Given the description of an element on the screen output the (x, y) to click on. 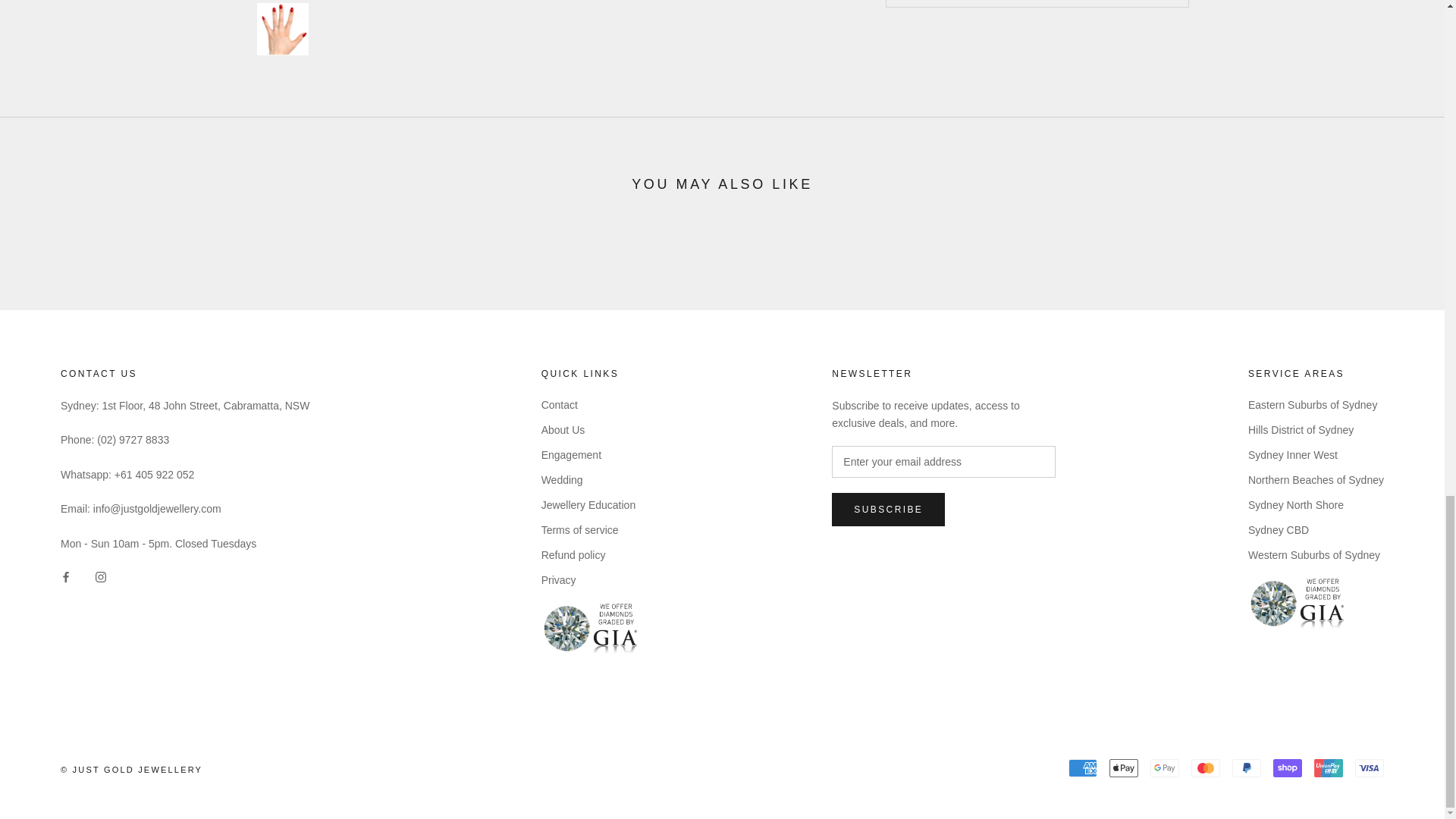
Visa (1369, 768)
PayPal (1245, 768)
Union Pay (1328, 768)
Shop Pay (1286, 768)
Apple Pay (1123, 768)
Google Pay (1164, 768)
Mastercard (1205, 768)
American Express (1082, 768)
